Given the description of an element on the screen output the (x, y) to click on. 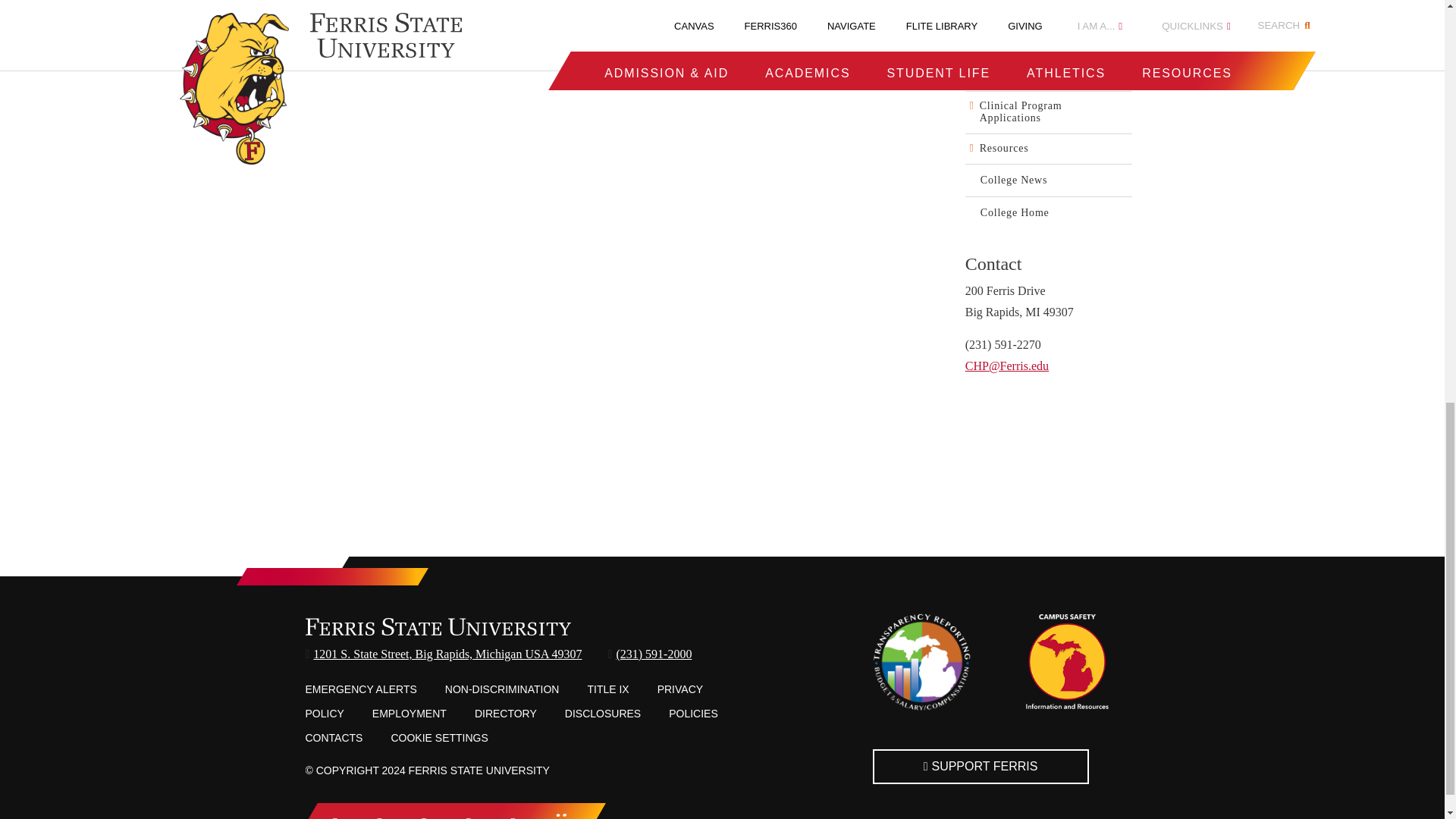
Facebook opens in a new window. (336, 816)
X.com opens in a new window. (380, 816)
LinkedIn opens in a new window. (469, 816)
Instagram opens in a new window. (425, 816)
YouTube opens in a new window. (514, 816)
SmugMug opens in a new window. (560, 816)
